Given the description of an element on the screen output the (x, y) to click on. 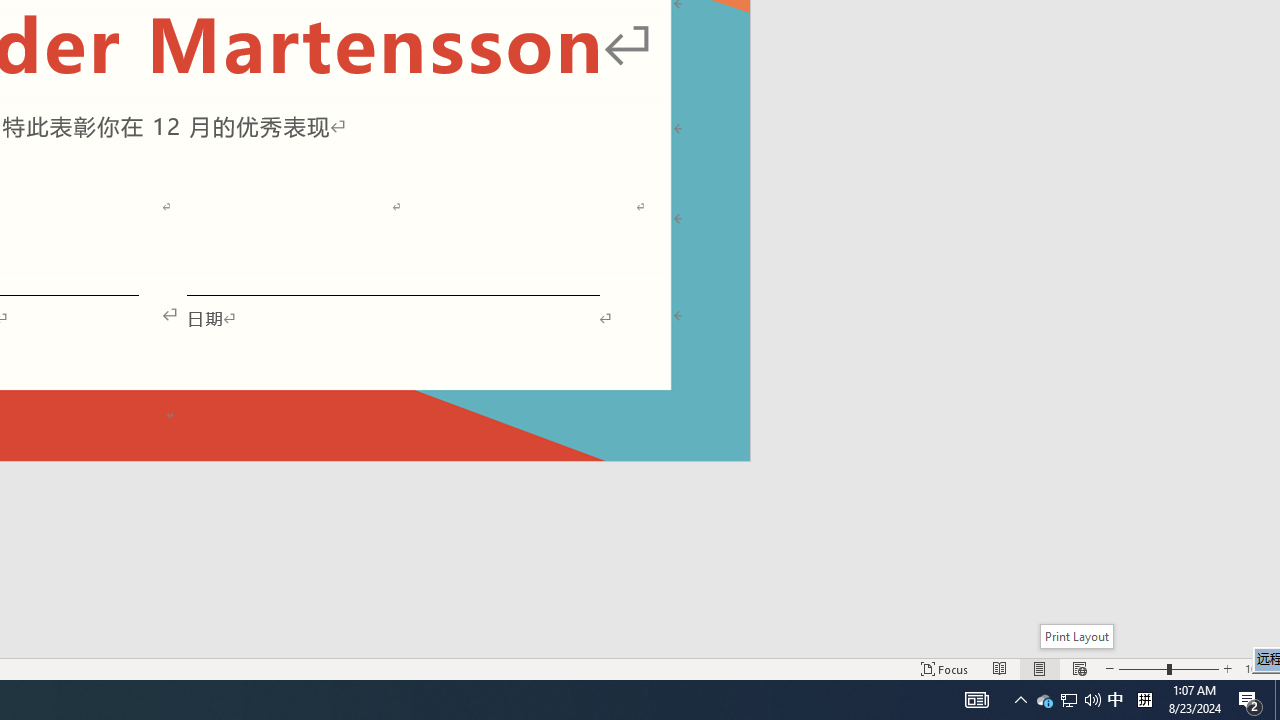
Zoom 104% (1258, 668)
